Given the description of an element on the screen output the (x, y) to click on. 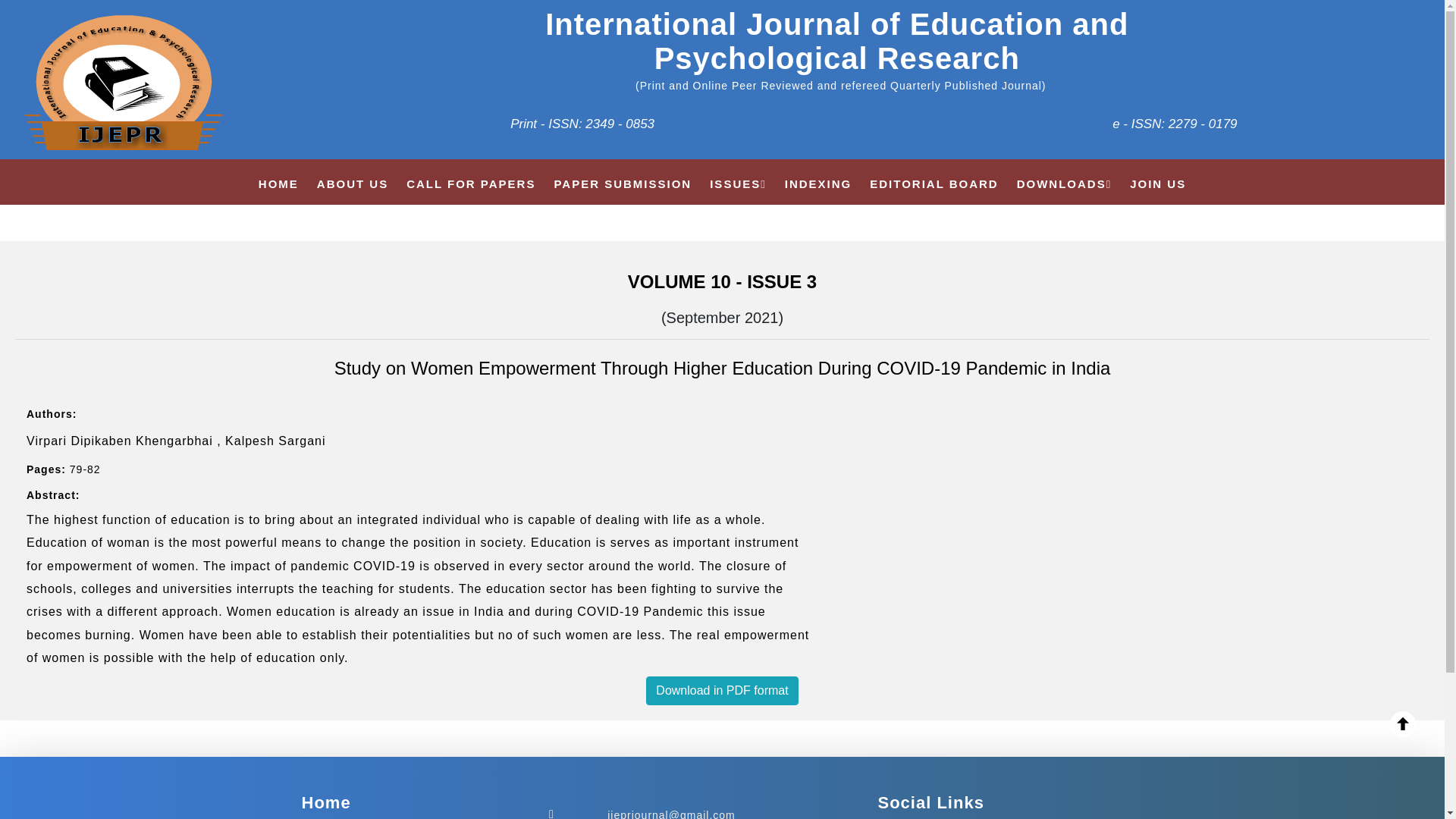
HOME (278, 183)
ISSUES (738, 183)
CALL FOR PAPERS (470, 183)
ABOUT US (352, 183)
PAPER SUBMISSION (622, 183)
